Given the description of an element on the screen output the (x, y) to click on. 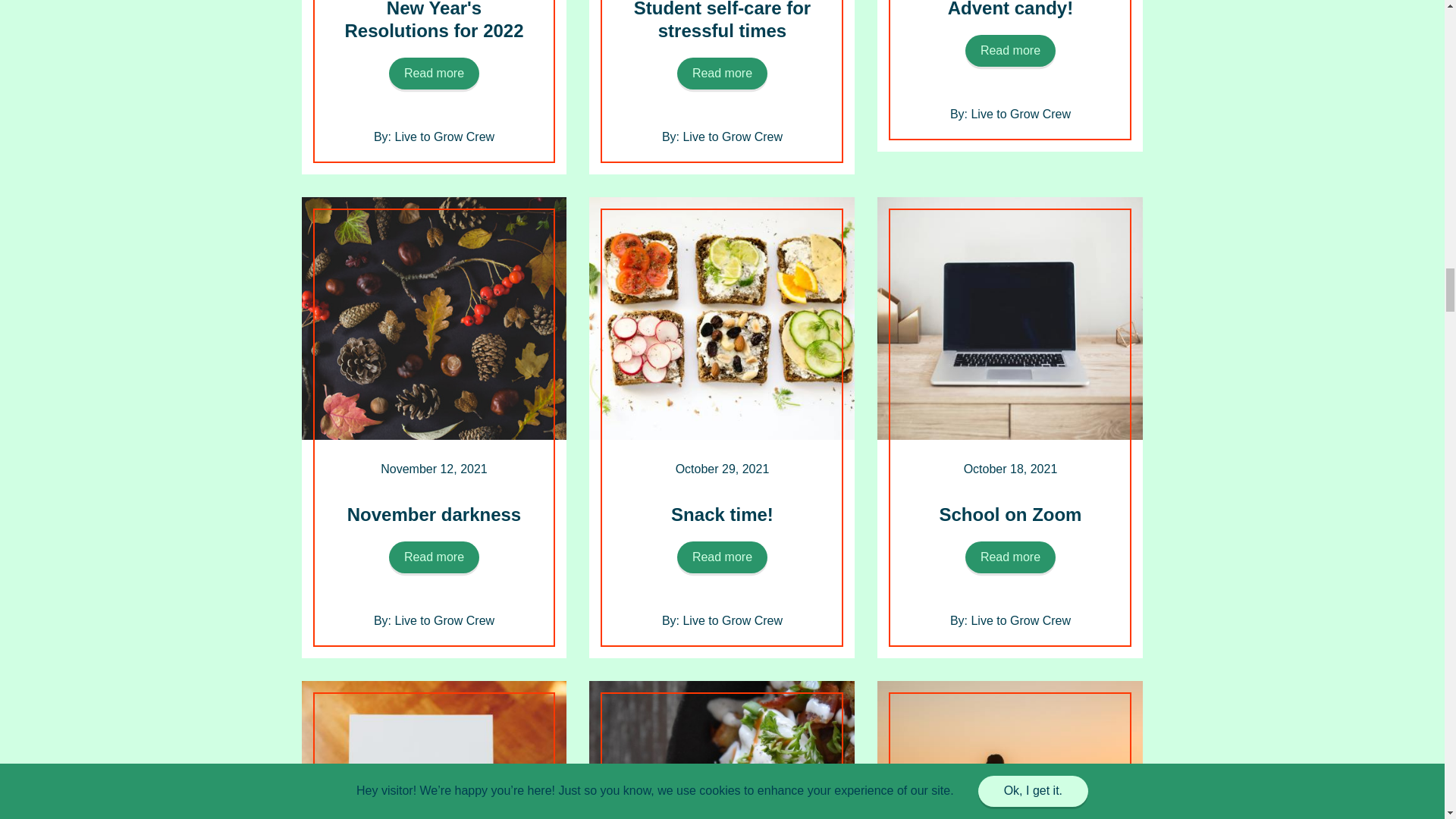
Read more (1010, 557)
Read more (433, 557)
Read more (722, 557)
Read more (722, 73)
Read more (1010, 50)
Read more (433, 73)
